Given the description of an element on the screen output the (x, y) to click on. 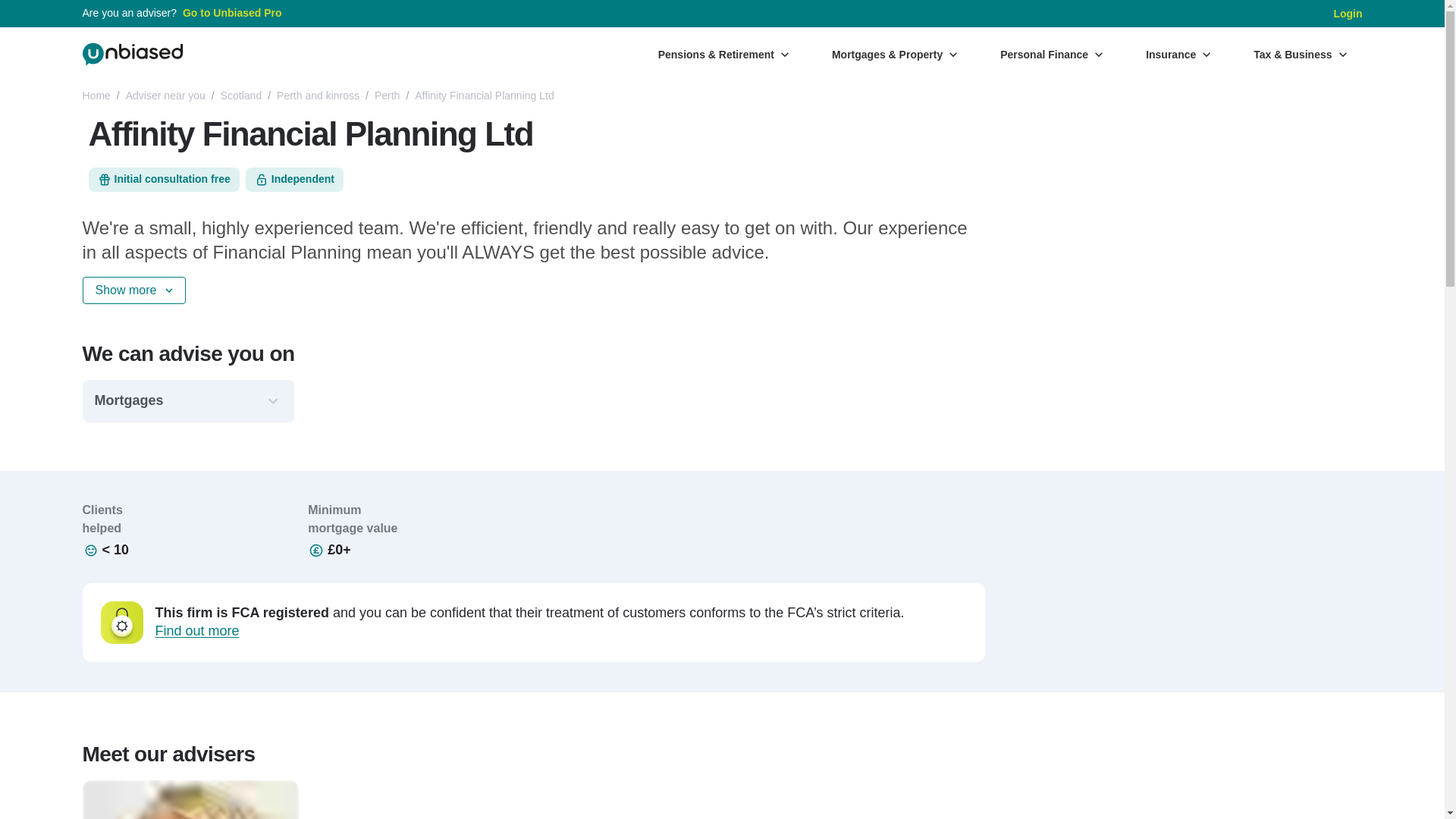
Adviser near you (165, 95)
Home (95, 95)
Go to Unbiased Pro (232, 13)
Personal Finance (1051, 54)
Perth (386, 95)
Insurance (1178, 54)
Login (1347, 14)
Find out more (196, 631)
Show more (133, 289)
Perth and kinross (317, 95)
